Given the description of an element on the screen output the (x, y) to click on. 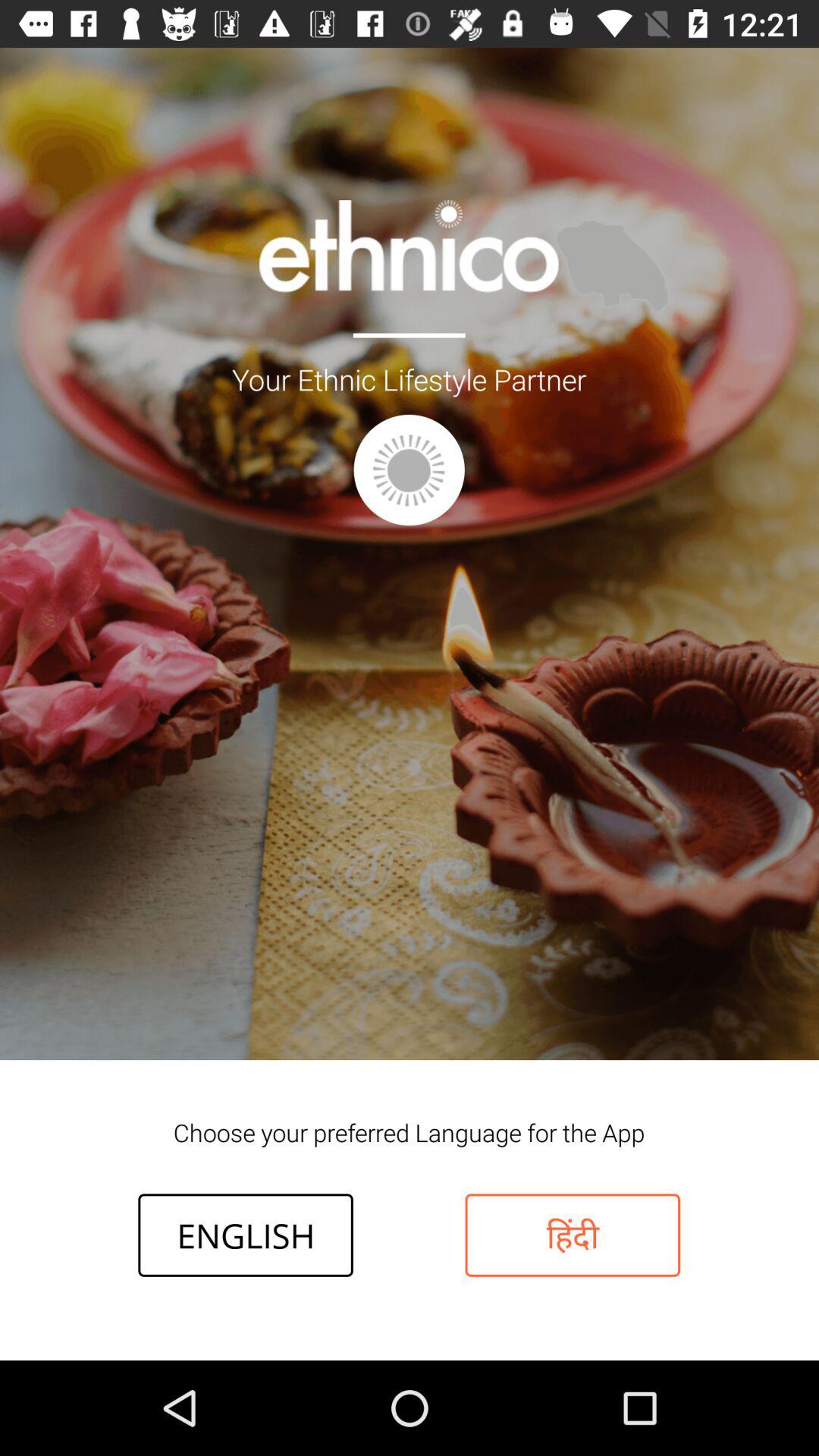
scroll to the english item (245, 1234)
